Given the description of an element on the screen output the (x, y) to click on. 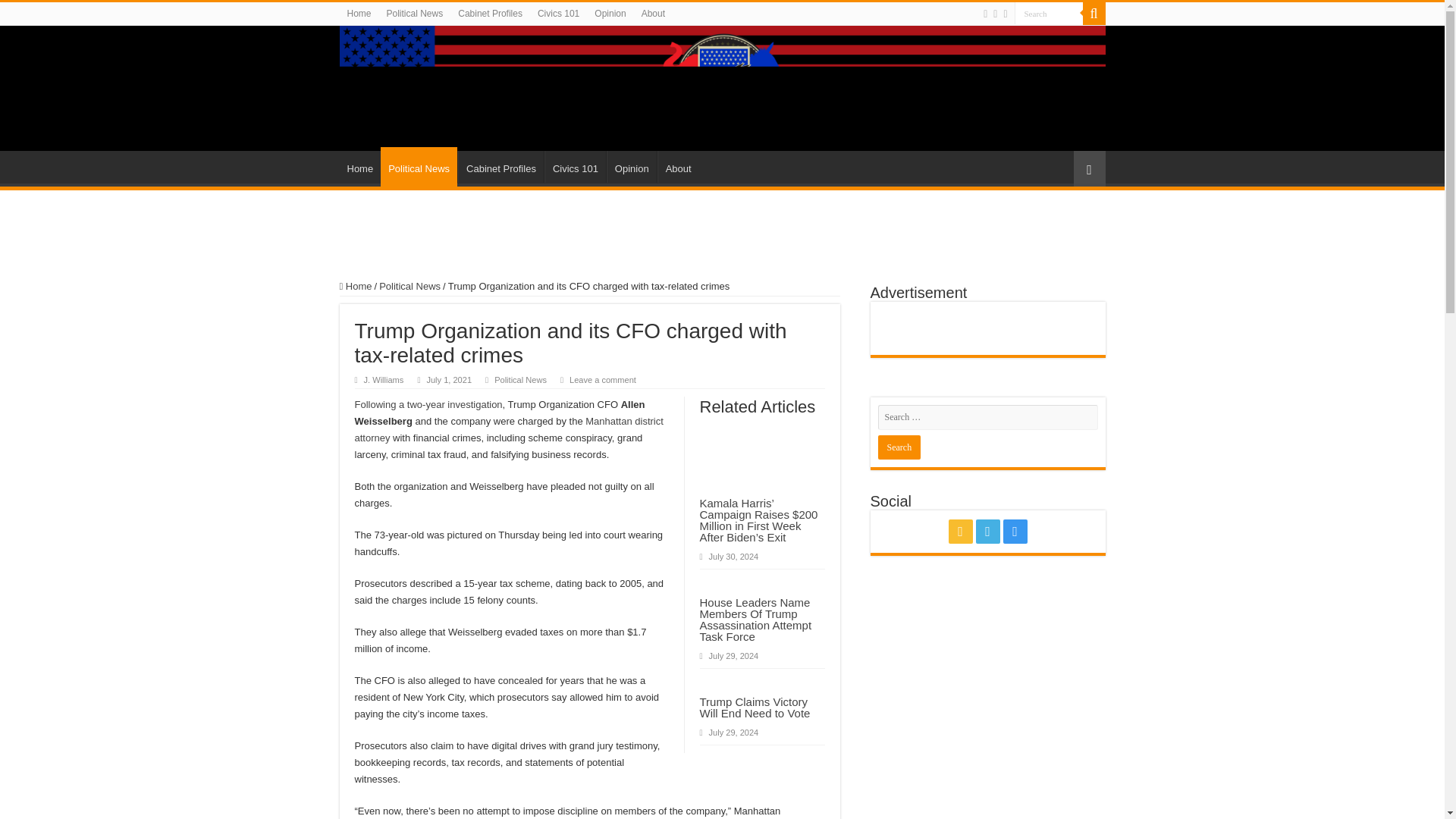
Search (899, 446)
Political News (414, 13)
Political News (418, 166)
Home (358, 13)
Opinion (609, 13)
Search (1048, 13)
Twitter (986, 531)
Civics 101 (557, 13)
Political News (409, 285)
Rss (959, 531)
Opinion (631, 166)
About (678, 166)
Leave a comment (602, 379)
Search (1048, 13)
